Given the description of an element on the screen output the (x, y) to click on. 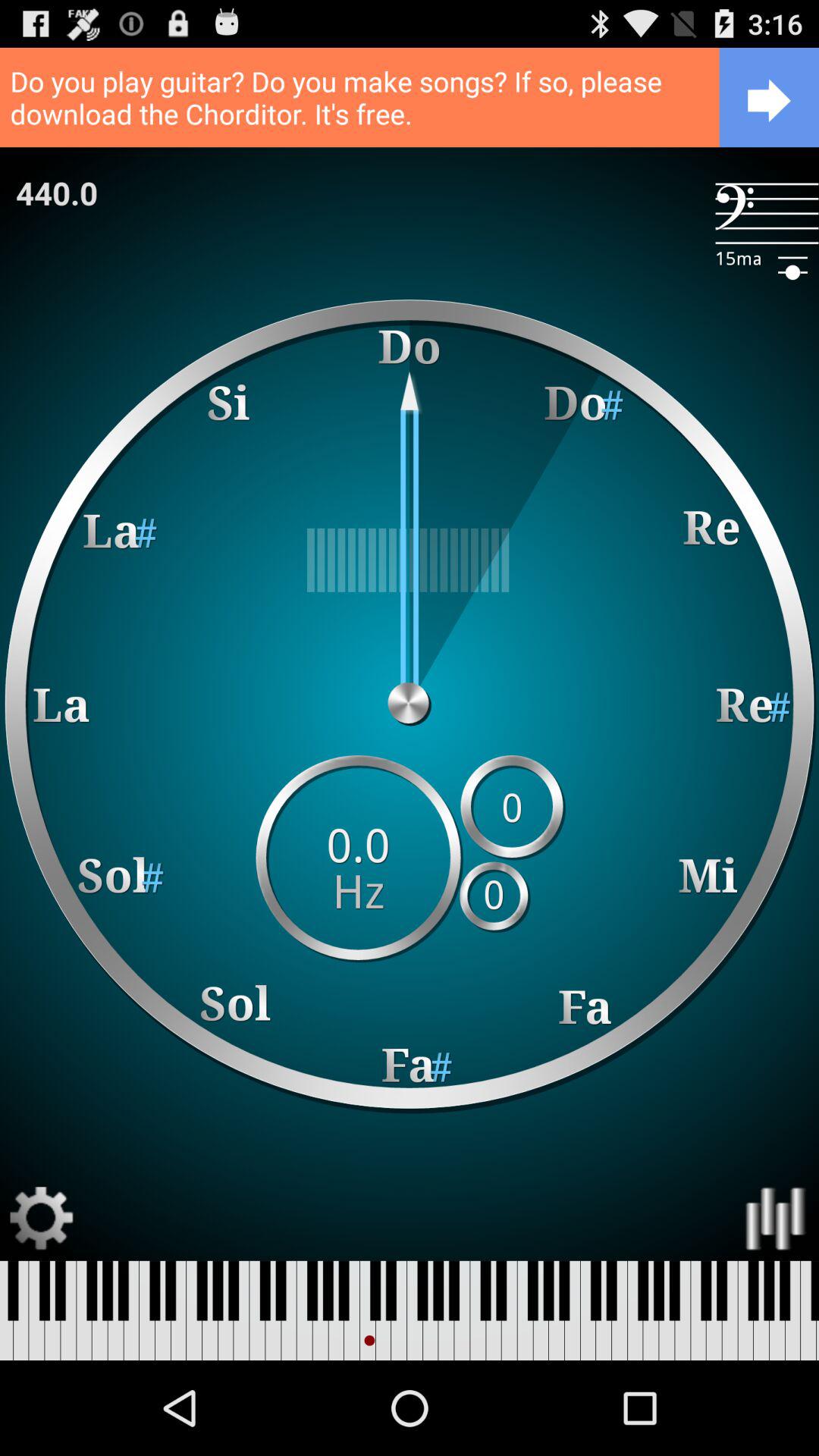
launch the icon at the bottom right corner (776, 1218)
